Given the description of an element on the screen output the (x, y) to click on. 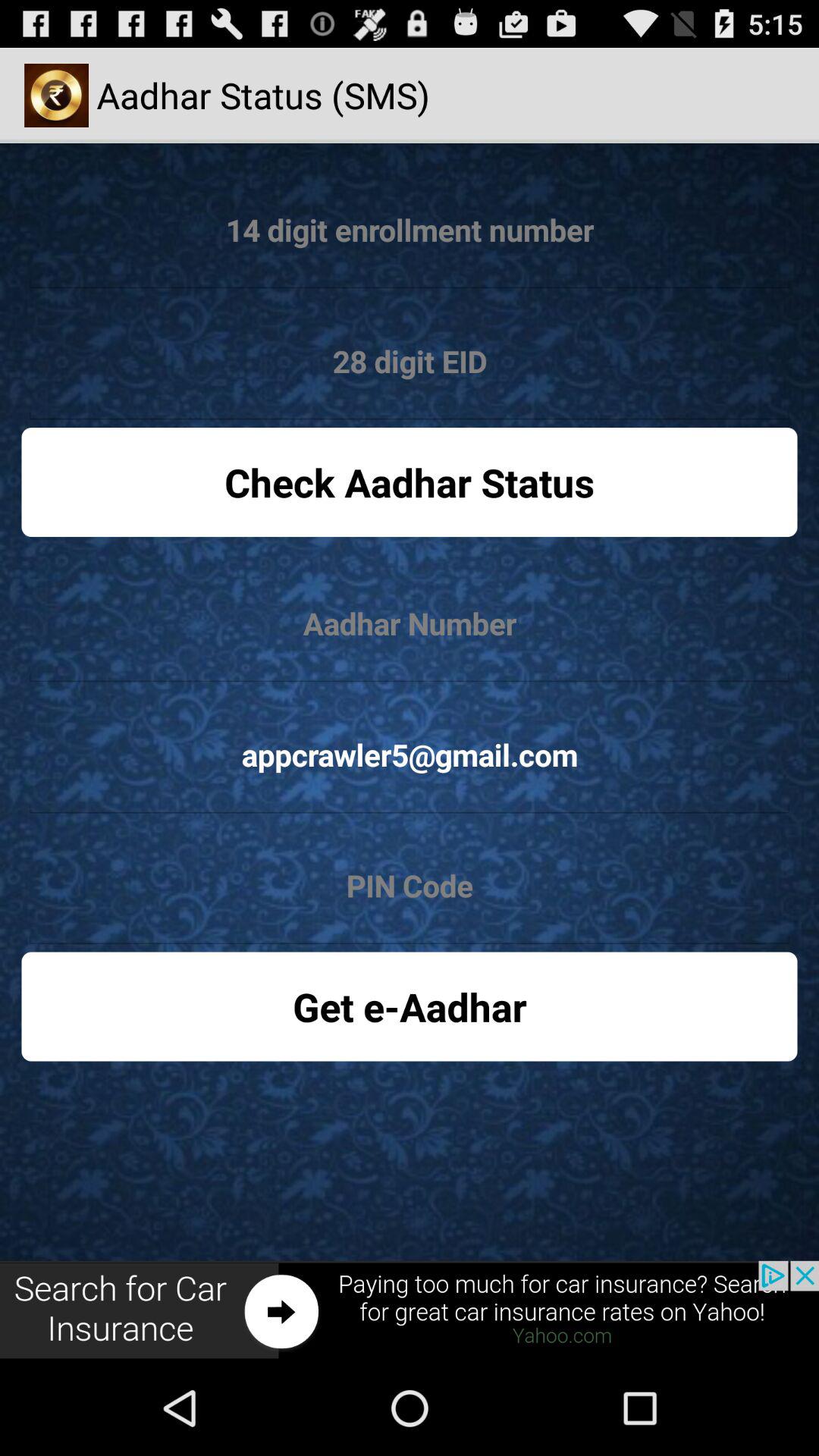
input requested data (409, 230)
